Given the description of an element on the screen output the (x, y) to click on. 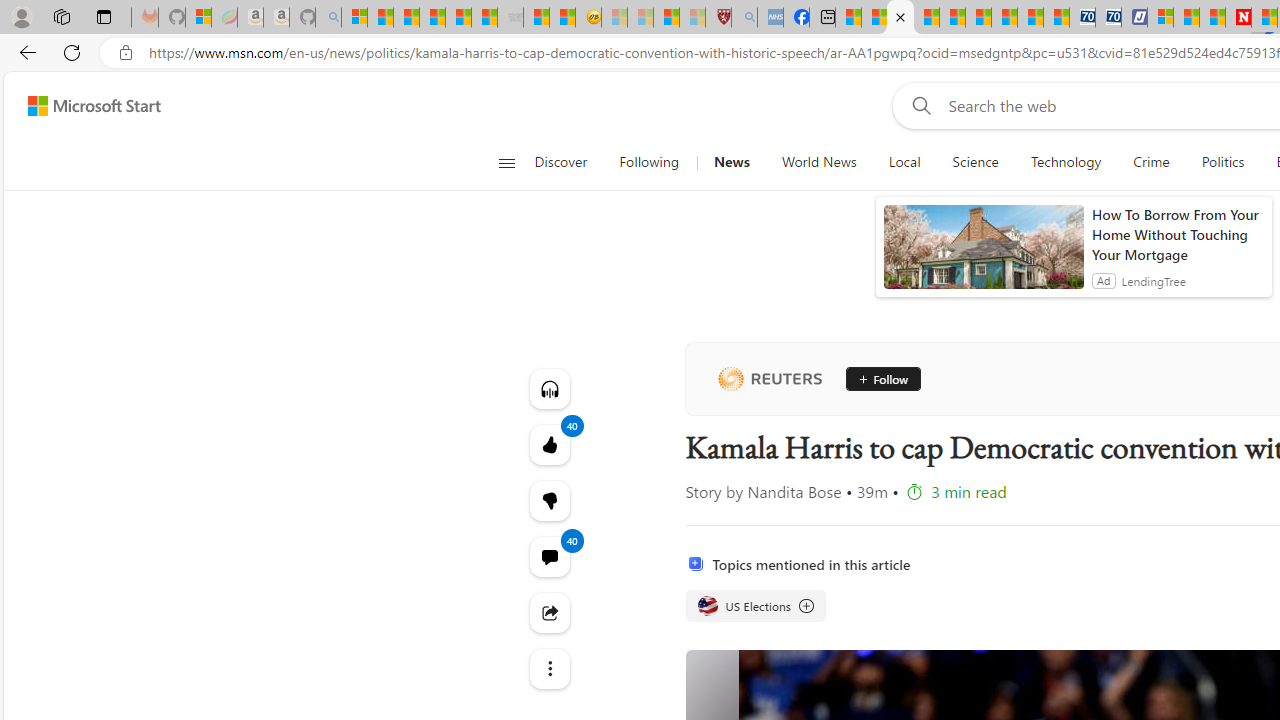
Technology (1065, 162)
Crime (1150, 162)
Reuters (769, 378)
US Elections US Elections US Elections (754, 605)
Cheap Car Rentals - Save70.com (1082, 17)
